Given the description of an element on the screen output the (x, y) to click on. 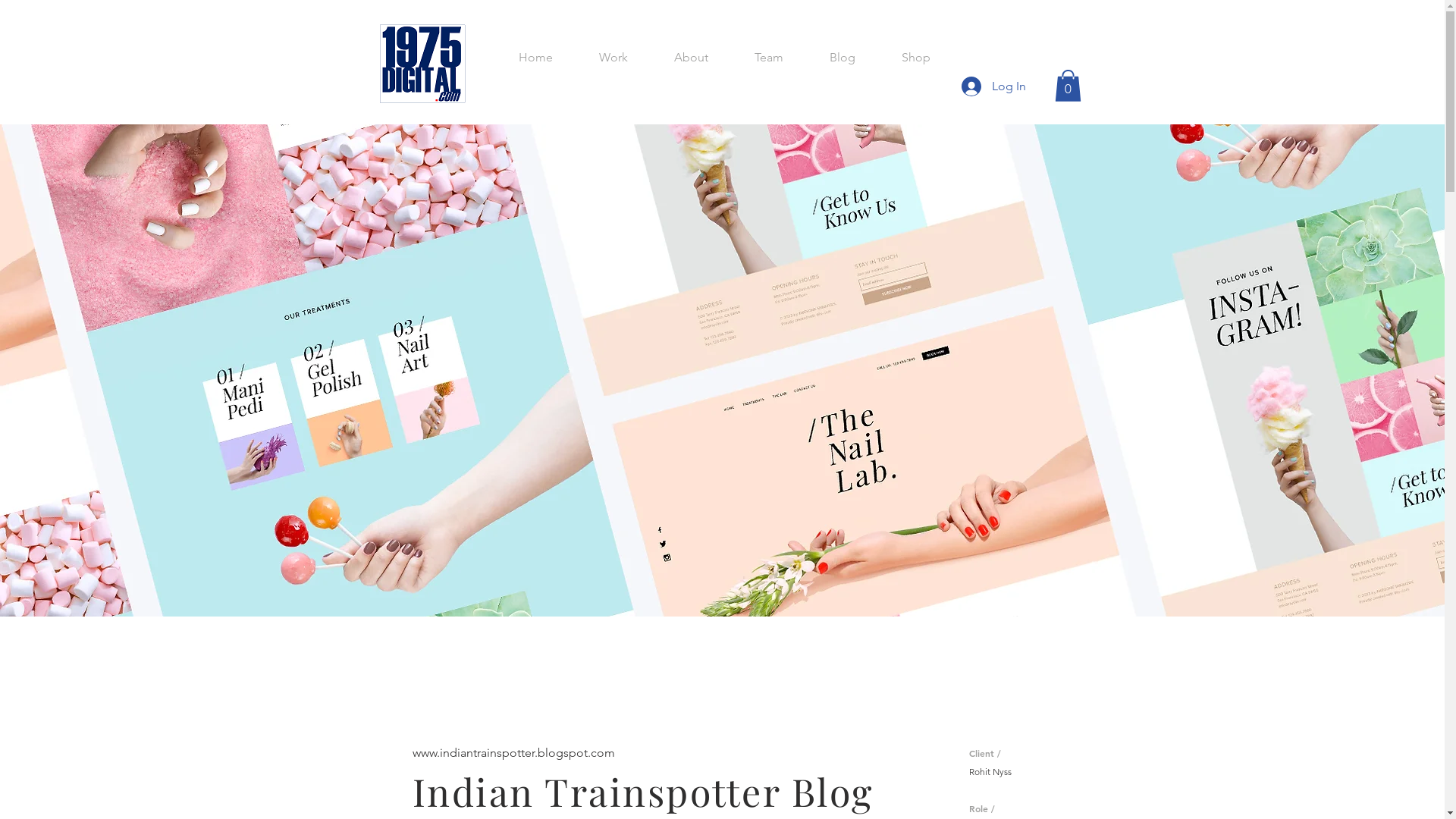
www.indiantrainspotter.blogspot.com Element type: text (513, 752)
Shop Element type: text (915, 57)
Home Element type: text (534, 57)
Blog Element type: text (842, 57)
0 Element type: text (1067, 85)
About Element type: text (690, 57)
Work Element type: text (613, 57)
Log In Element type: text (993, 86)
Team Element type: text (768, 57)
